Given the description of an element on the screen output the (x, y) to click on. 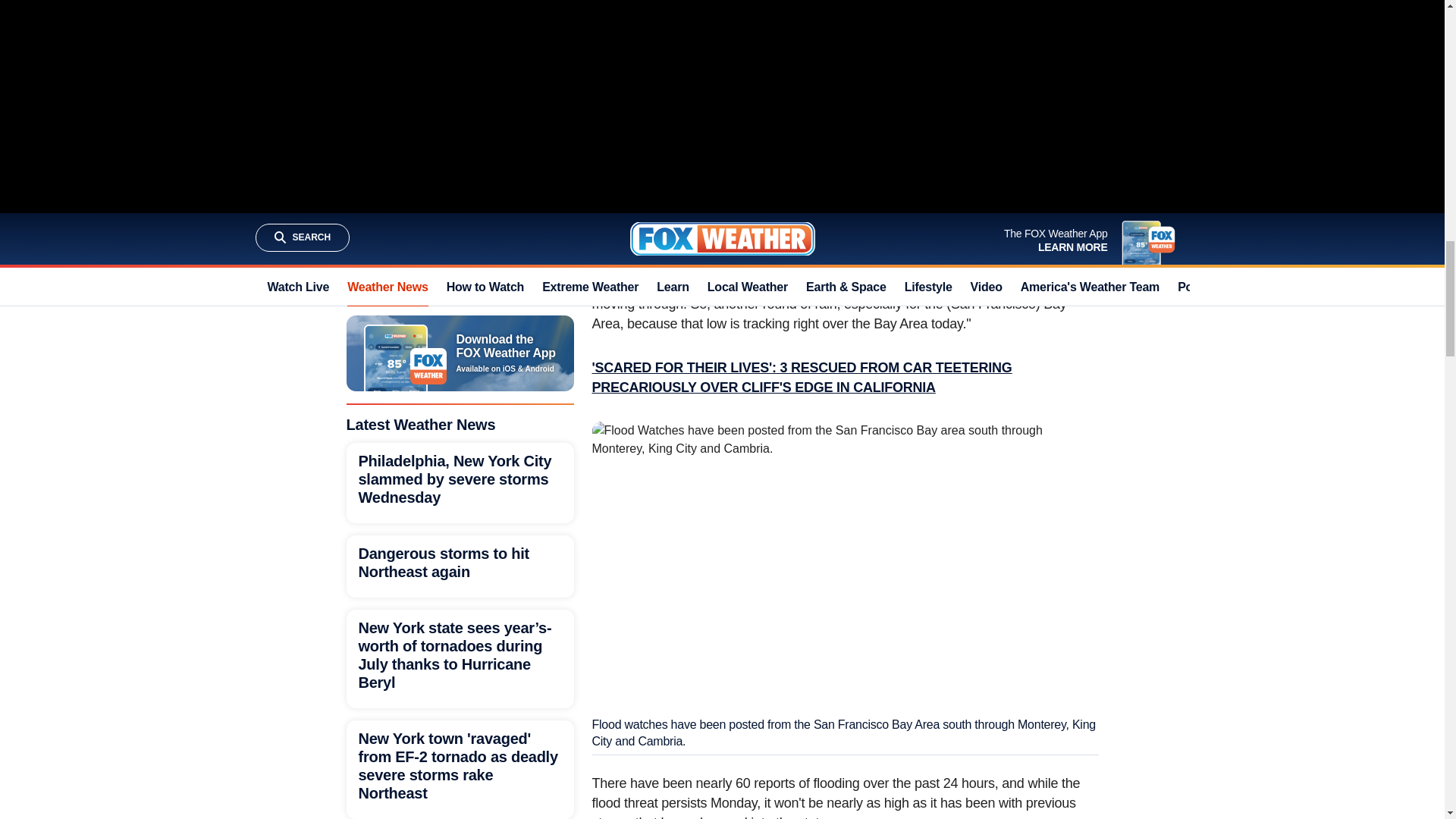
FOX Forecast Center (752, 136)
Britta Merwin (767, 283)
